Given the description of an element on the screen output the (x, y) to click on. 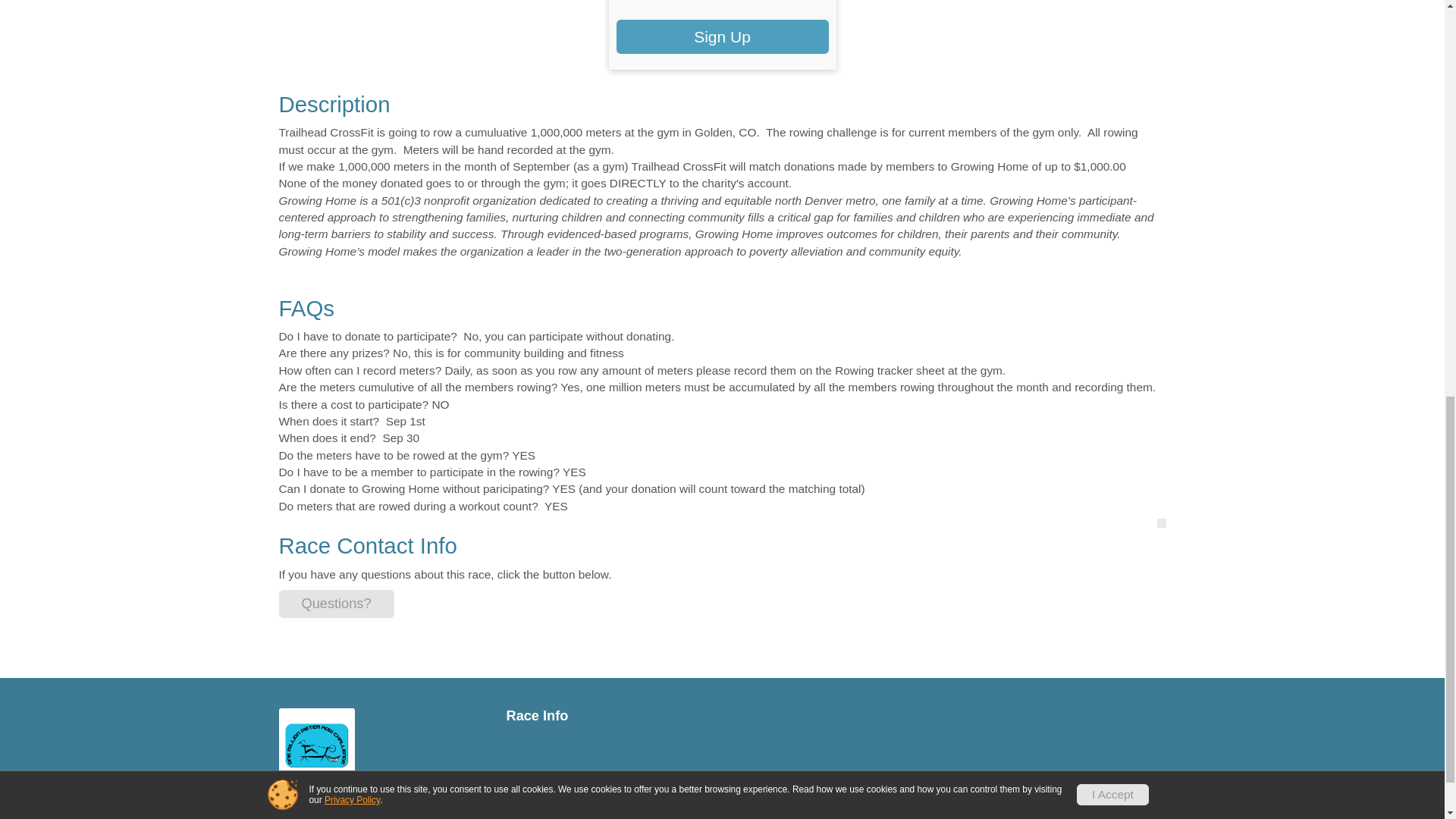
Sign Up (721, 36)
Questions? (336, 603)
Race Info (608, 715)
